Given the description of an element on the screen output the (x, y) to click on. 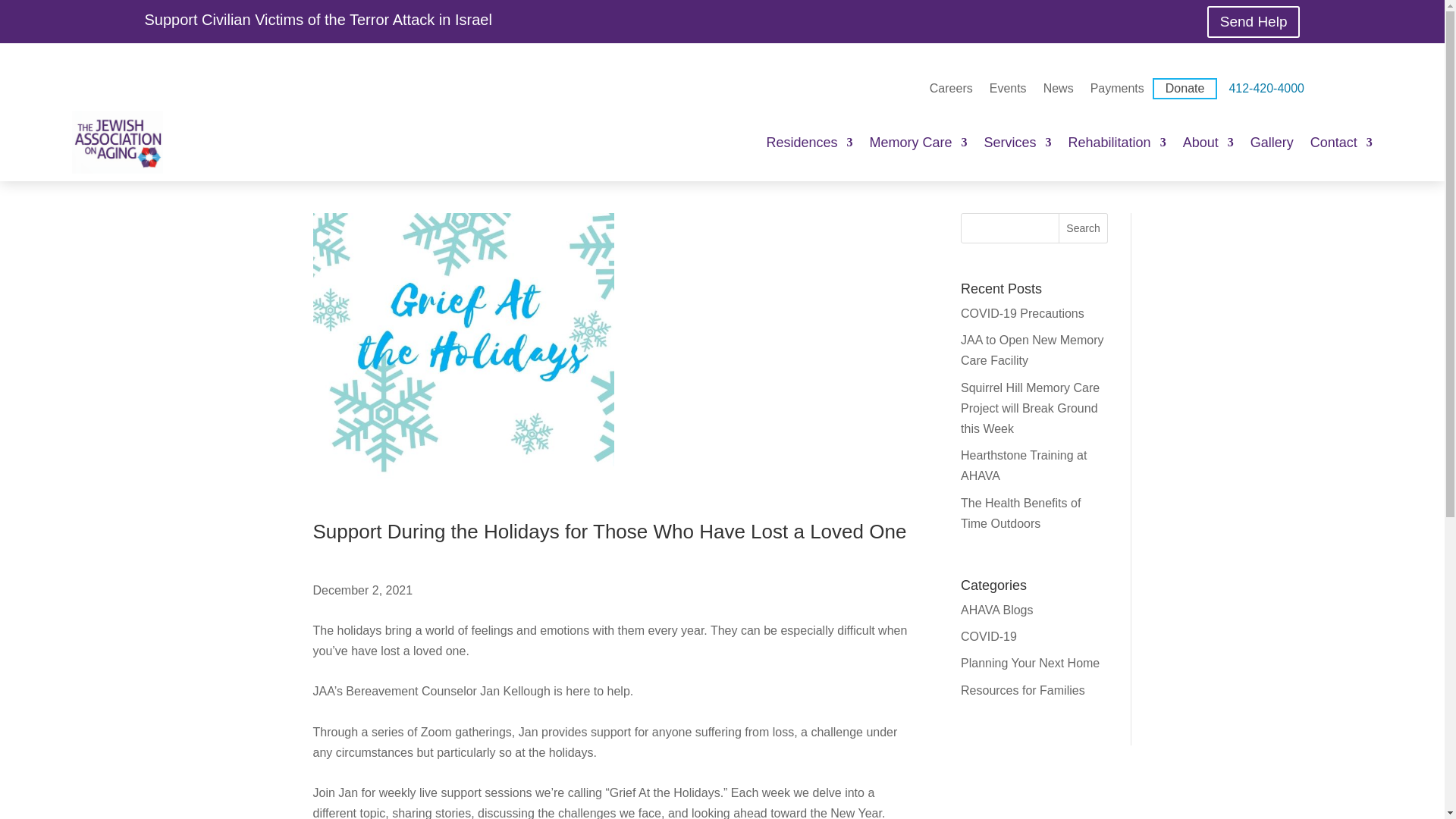
Send Help (1253, 21)
Memory Care (917, 142)
Graphic about grief during the holidays (463, 363)
Rehabilitation (1117, 142)
Support Civilian Victims of the Terror Attack in Israel (318, 19)
Careers (951, 88)
Services (1017, 142)
Residences (808, 142)
Payments (1117, 88)
Donate (1184, 88)
Events (1008, 88)
412-420-4000 (1266, 88)
News (1058, 88)
Search (1083, 227)
